Given the description of an element on the screen output the (x, y) to click on. 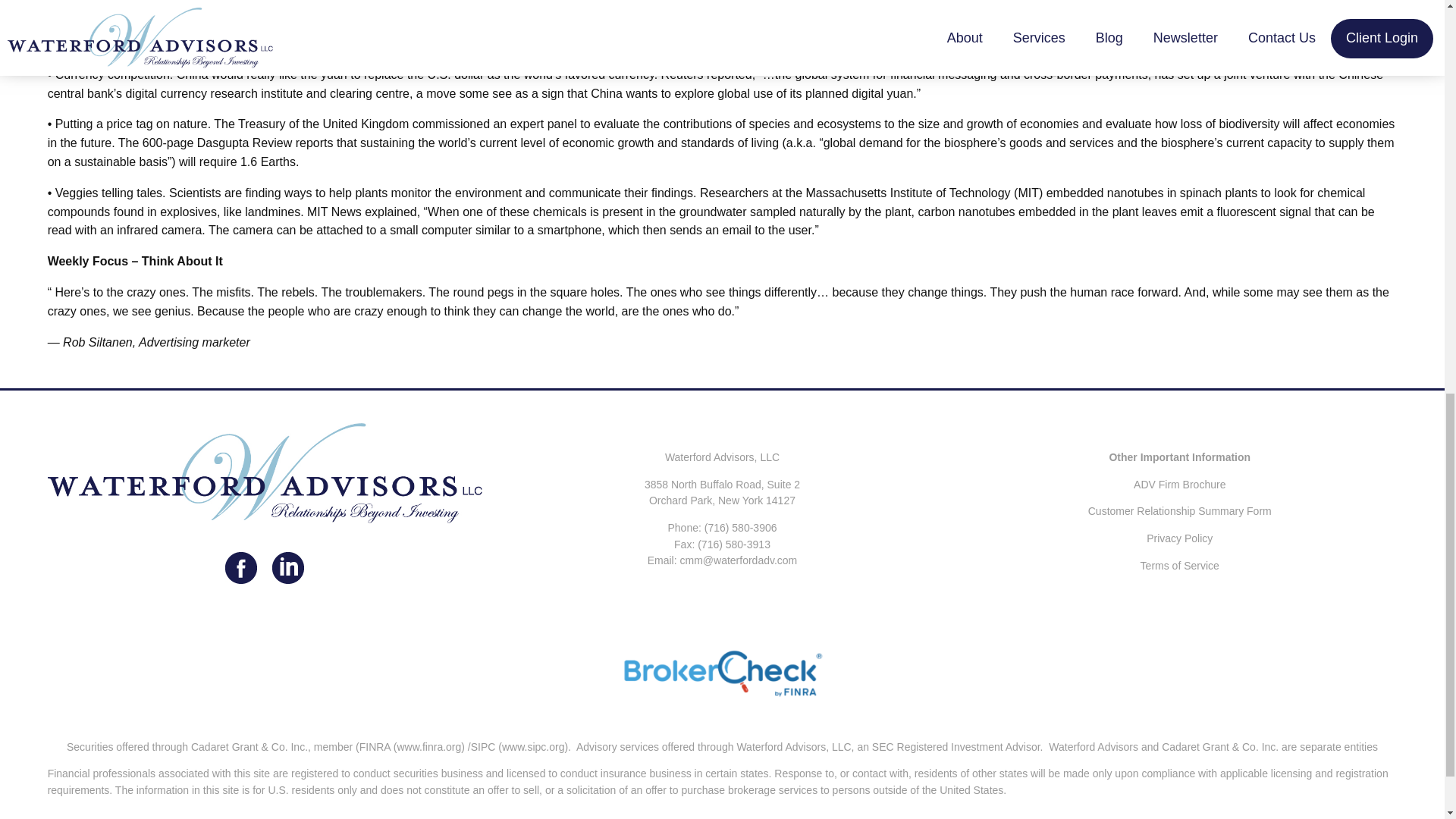
ADV Firm Brochure (1179, 484)
www.finra.org (428, 746)
www.sipc.org (533, 746)
Terms of Service (1180, 565)
Privacy Policy (1179, 538)
Customer Relationship Summary Form (1179, 510)
